Given the description of an element on the screen output the (x, y) to click on. 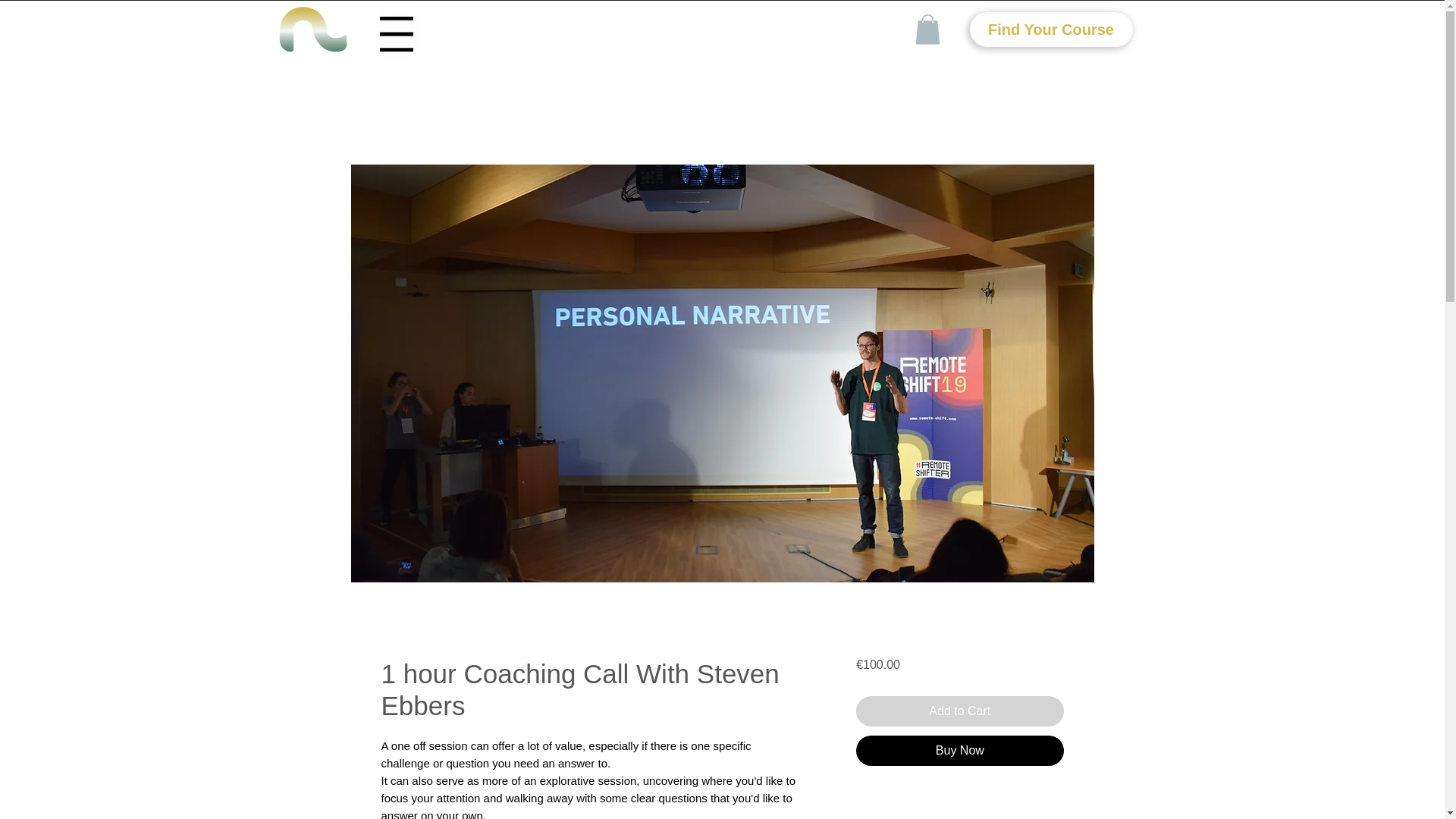
Find Your Course (1050, 29)
Buy Now (959, 750)
Add to Cart (959, 711)
